Given the description of an element on the screen output the (x, y) to click on. 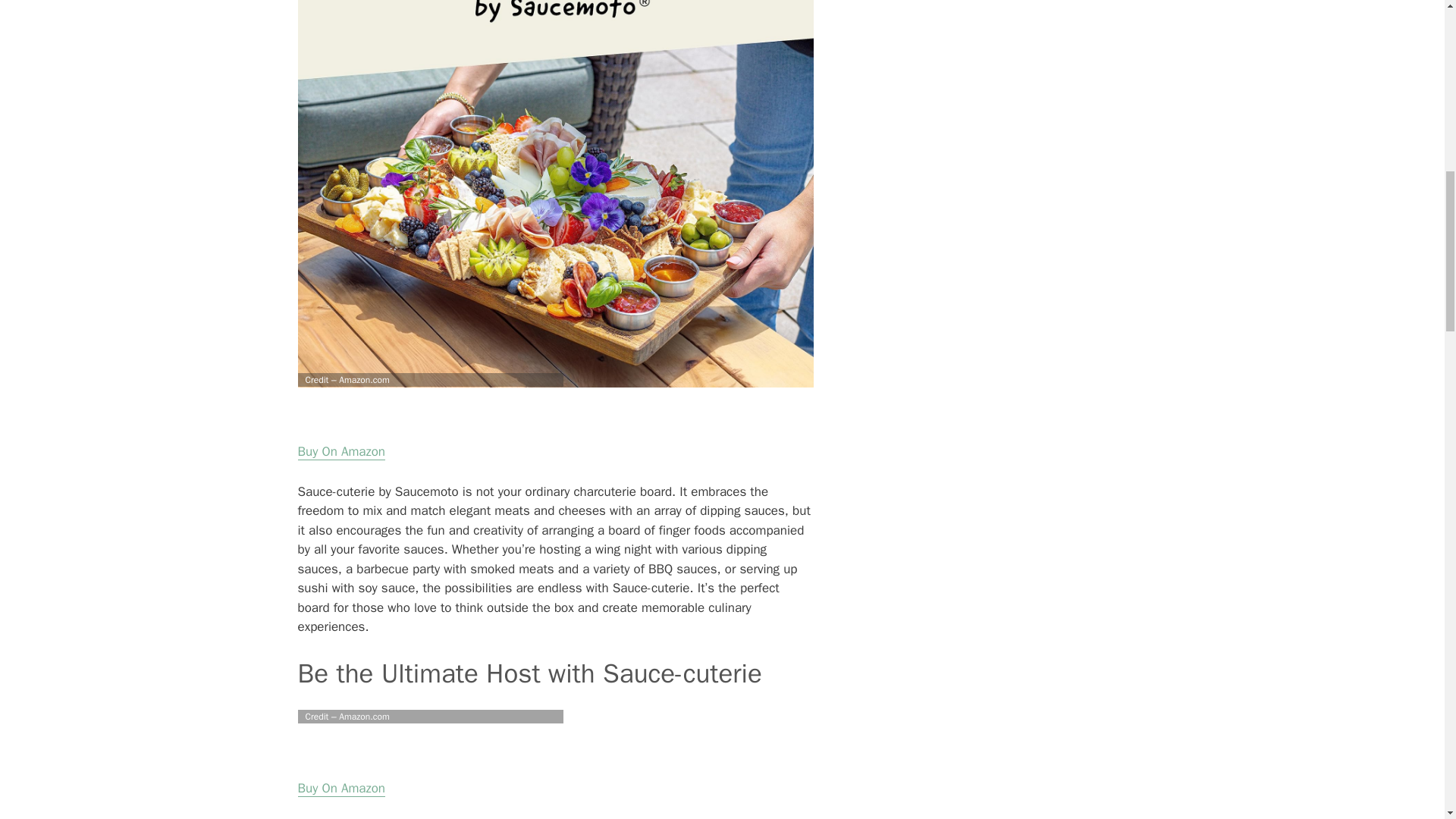
Buy On Amazon (340, 451)
Buy On Amazon (340, 788)
